Given the description of an element on the screen output the (x, y) to click on. 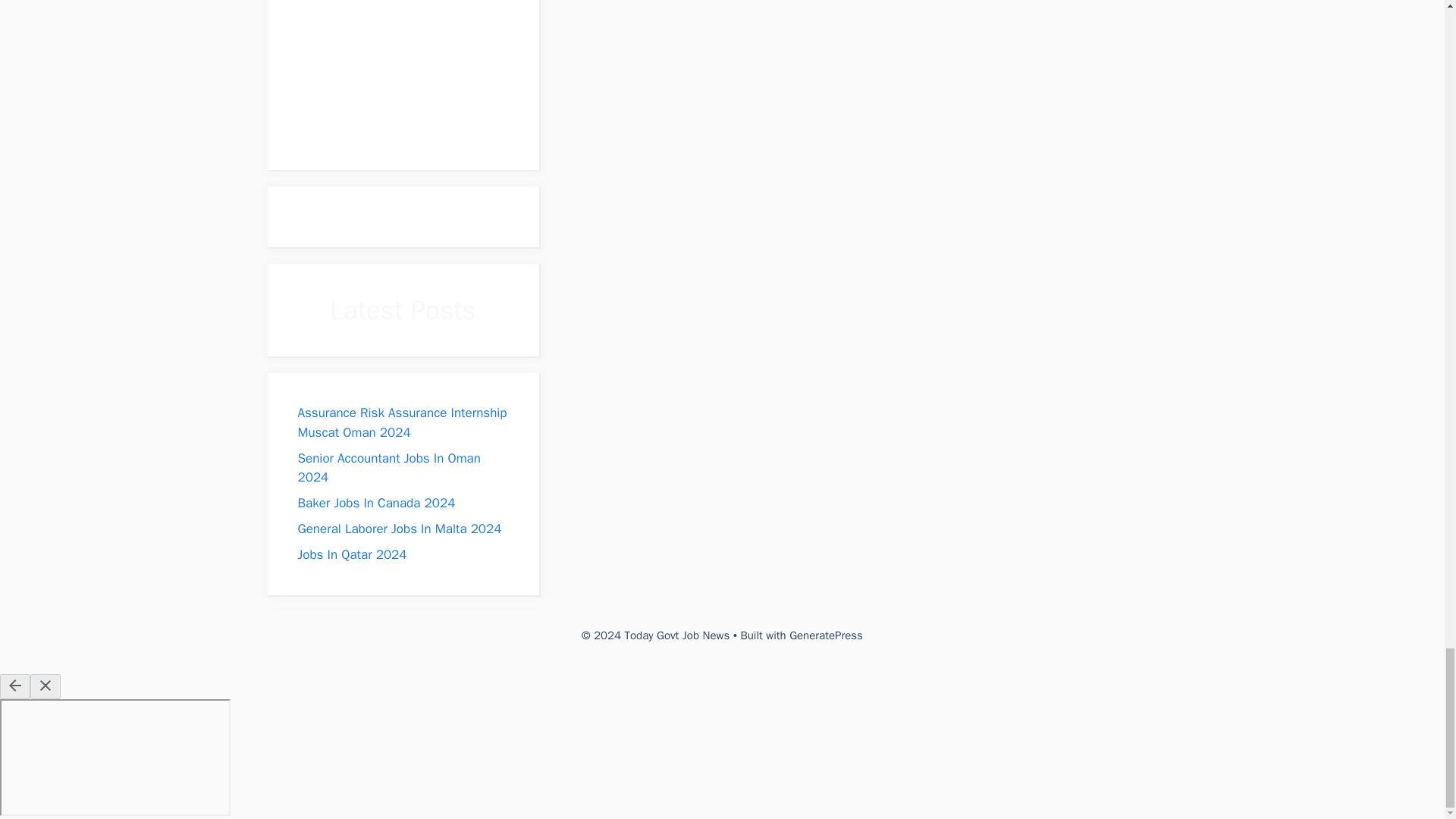
General Laborer Jobs In Malta 2024 (398, 528)
Senior Accountant Jobs In Oman 2024 (388, 468)
GeneratePress (826, 635)
Assurance Risk Assurance Internship Muscat Oman 2024 (401, 422)
Jobs In Qatar 2024 (351, 554)
Baker Jobs In Canada 2024 (375, 503)
